Given the description of an element on the screen output the (x, y) to click on. 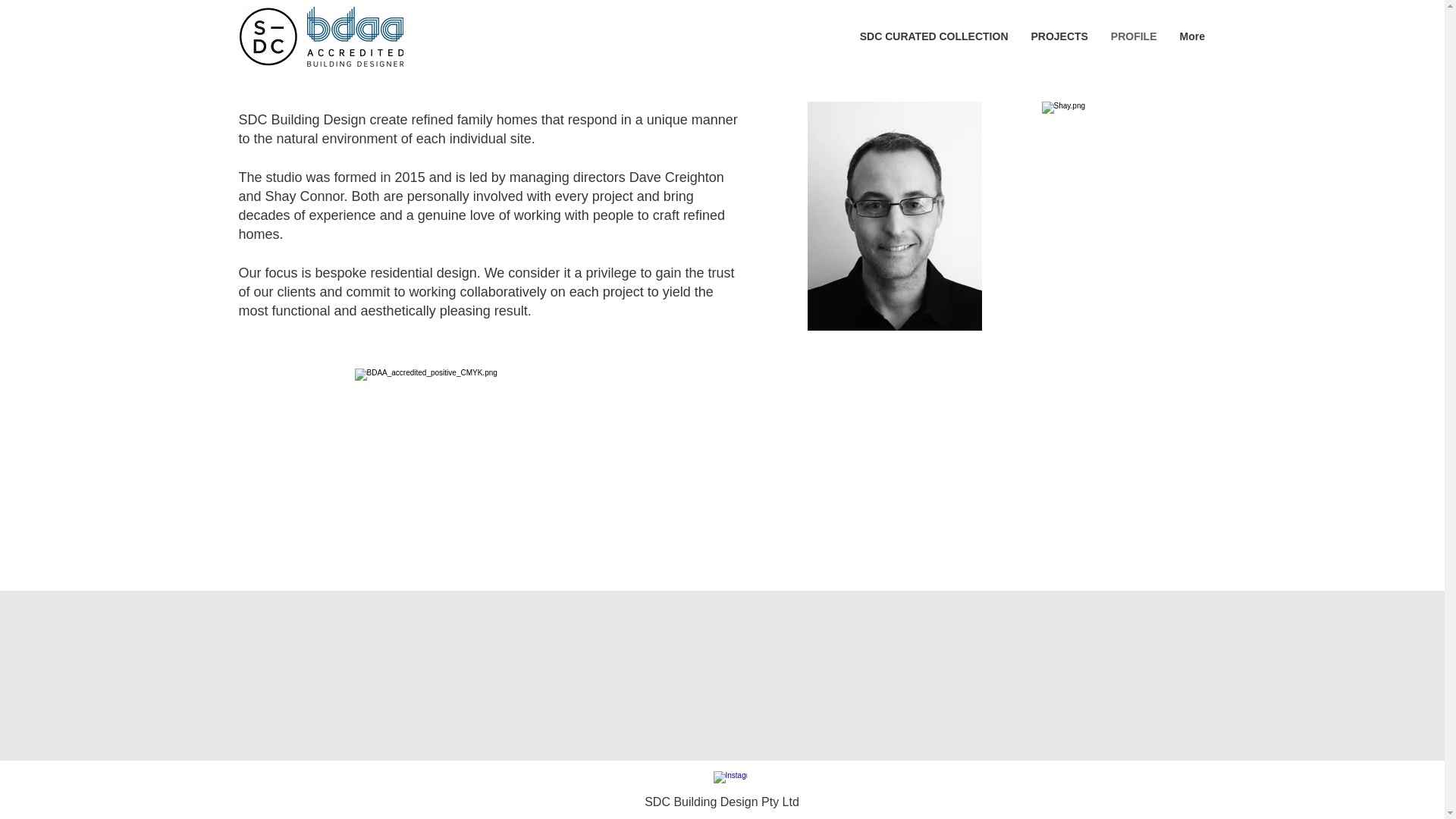
PROJECTS (1059, 36)
SDC CURATED COLLECTION (933, 36)
PROFILE (1134, 36)
